Given the description of an element on the screen output the (x, y) to click on. 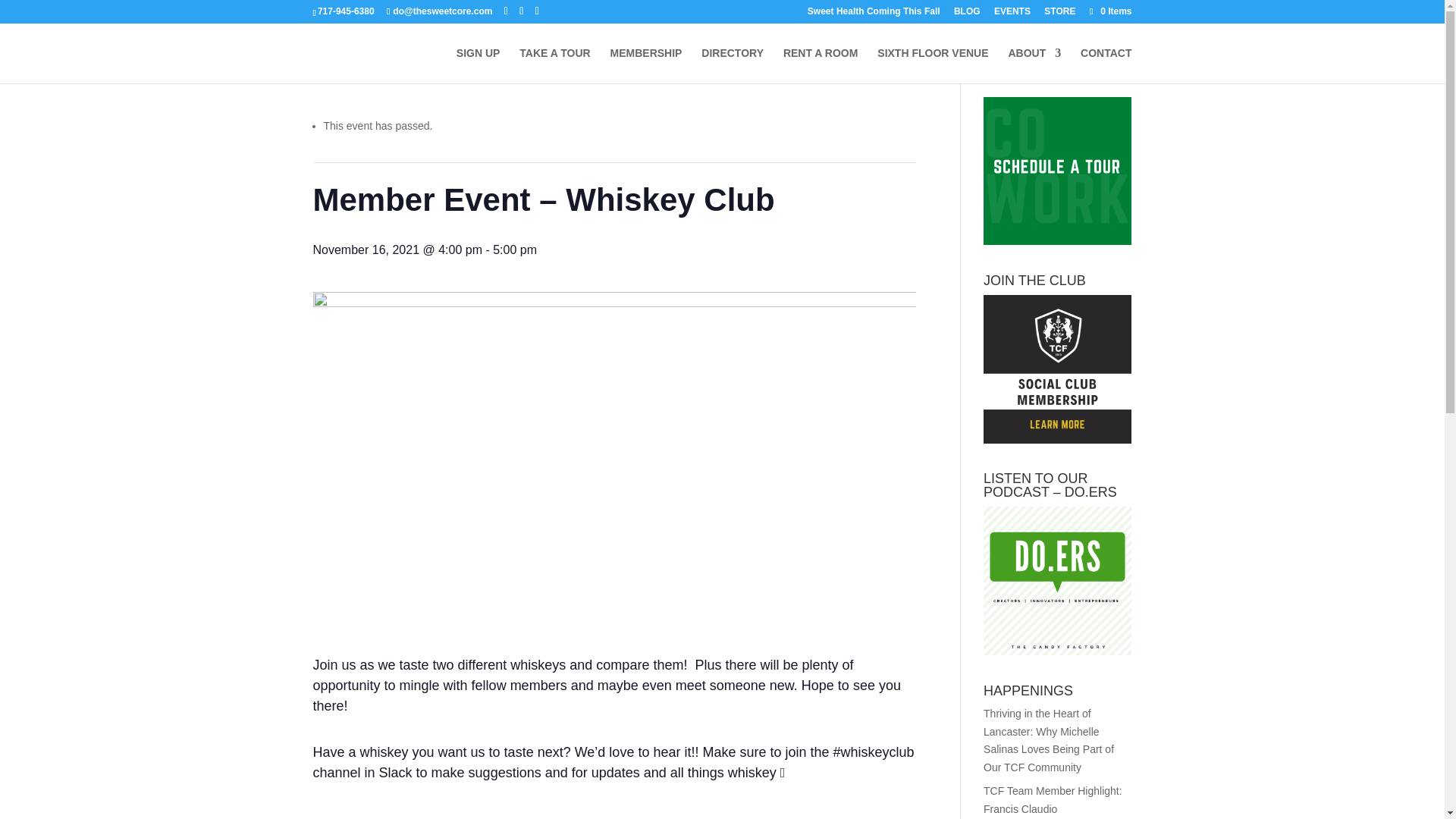
TAKE A TOUR (554, 65)
DIRECTORY (731, 65)
SIXTH FLOOR VENUE (932, 65)
ABOUT (1034, 65)
0 Items (1108, 10)
EVENTS (1012, 14)
Search (1106, 59)
STORE (1059, 14)
RENT A ROOM (821, 65)
BLOG (966, 14)
